Given the description of an element on the screen output the (x, y) to click on. 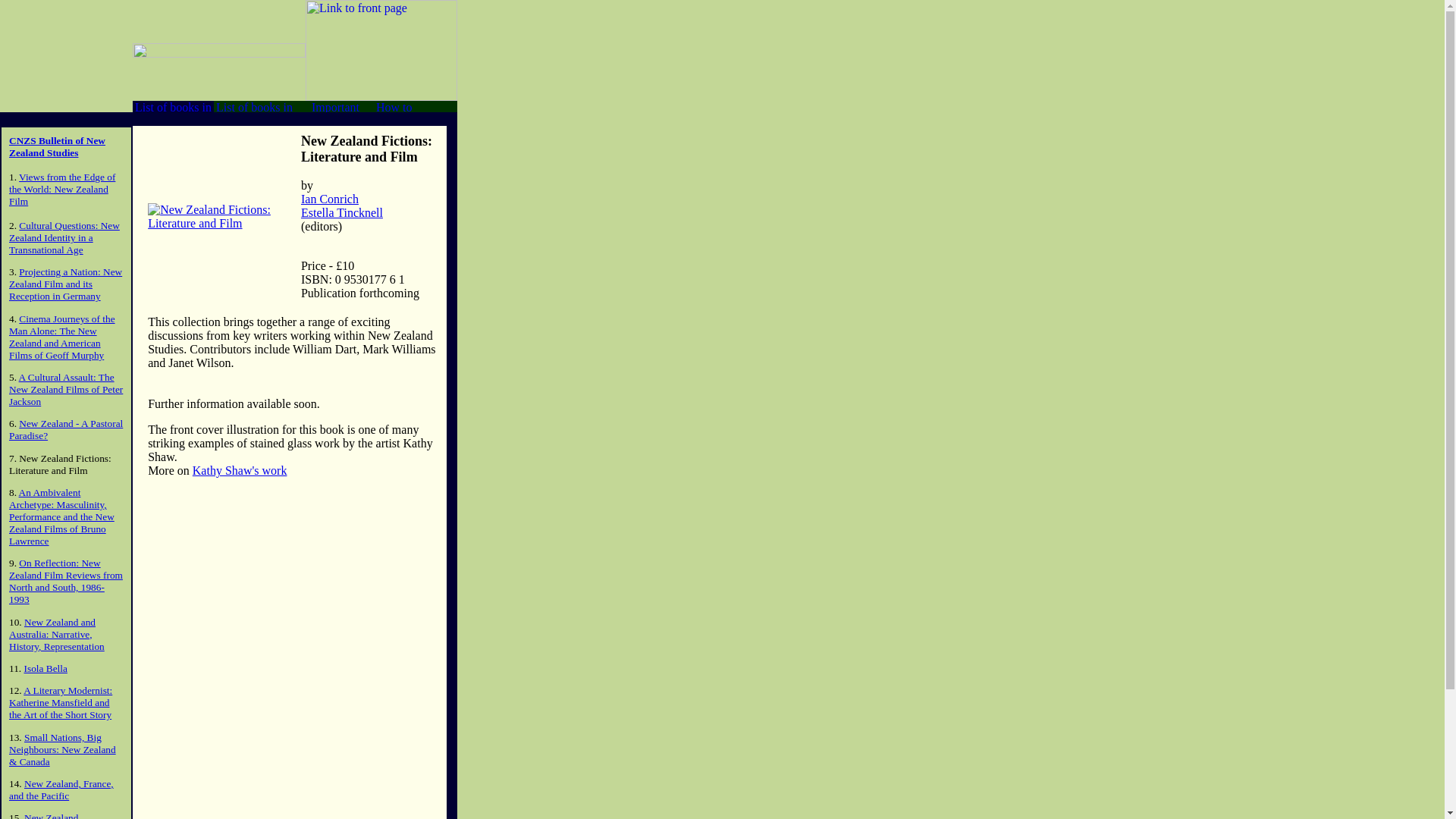
A Cultural Assault: The New Zealand Films of Peter Jackson (65, 389)
Isola Bella (45, 668)
Views from the Edge of the World: New Zealand Film (61, 189)
Kathy Shaw's work (239, 470)
New Zealand Filmmakers in Conversation (43, 815)
CNZS Bulletin of New Zealand Studies (56, 146)
Ian Conrich (329, 198)
New Zealand, France, and the Pacific (60, 789)
New Zealand - A Pastoral Paradise? (65, 429)
